Given the description of an element on the screen output the (x, y) to click on. 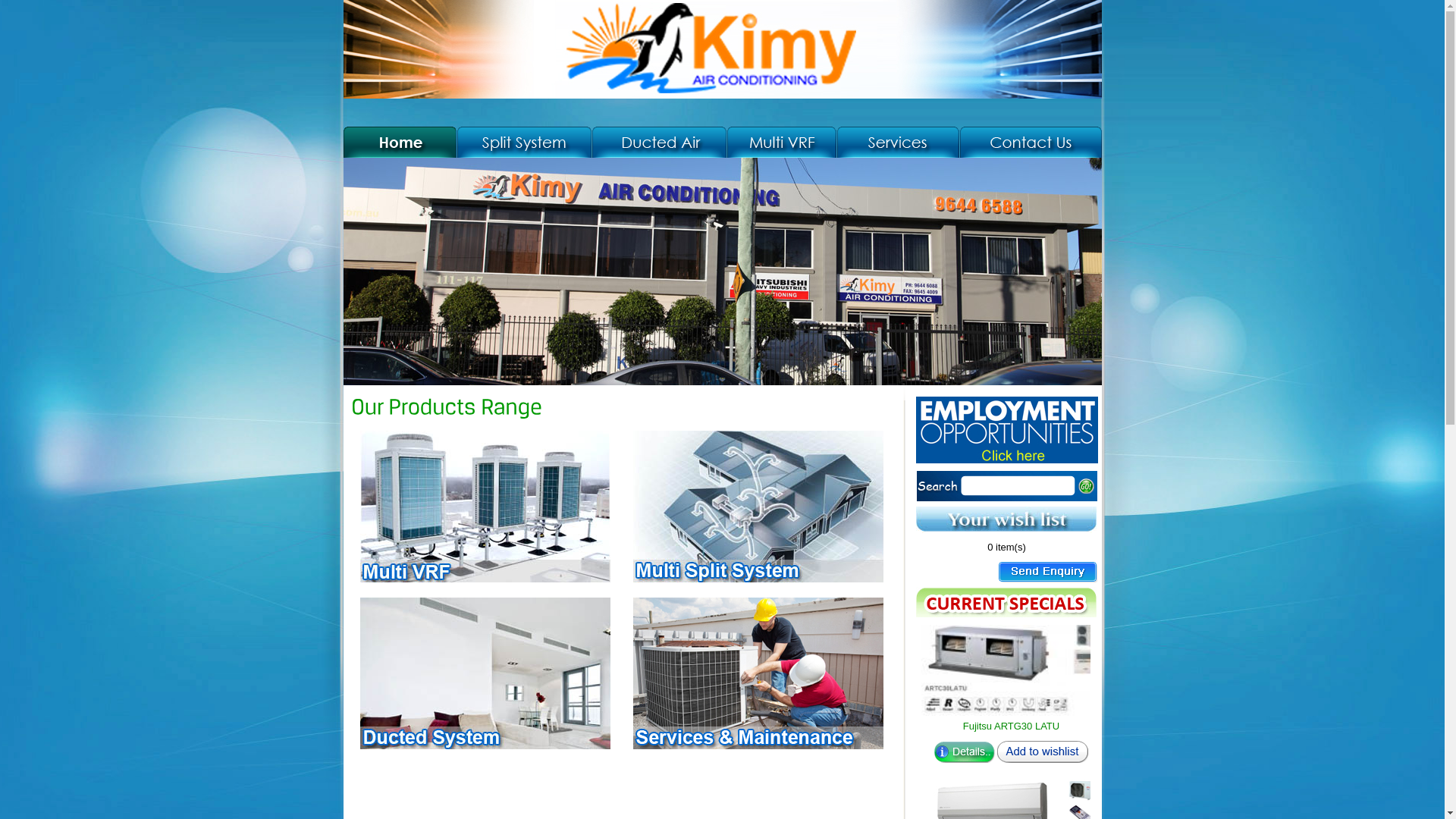
Contact Us Element type: text (1029, 138)
Fujitsu ARTG30 LATU Element type: text (1011, 725)
Split Systems Element type: text (522, 138)
Home Element type: text (398, 138)
Multi Vrf Element type: text (780, 138)
 Fujitsu ARTG30 LATU  Element type: hover (1010, 669)
Services Element type: text (896, 138)
 Send Enquiry  Element type: hover (1047, 572)
 View Details  Element type: hover (964, 751)
 Add to Enquiry List  Element type: hover (1042, 751)
Ducted Air Element type: text (659, 138)
